Given the description of an element on the screen output the (x, y) to click on. 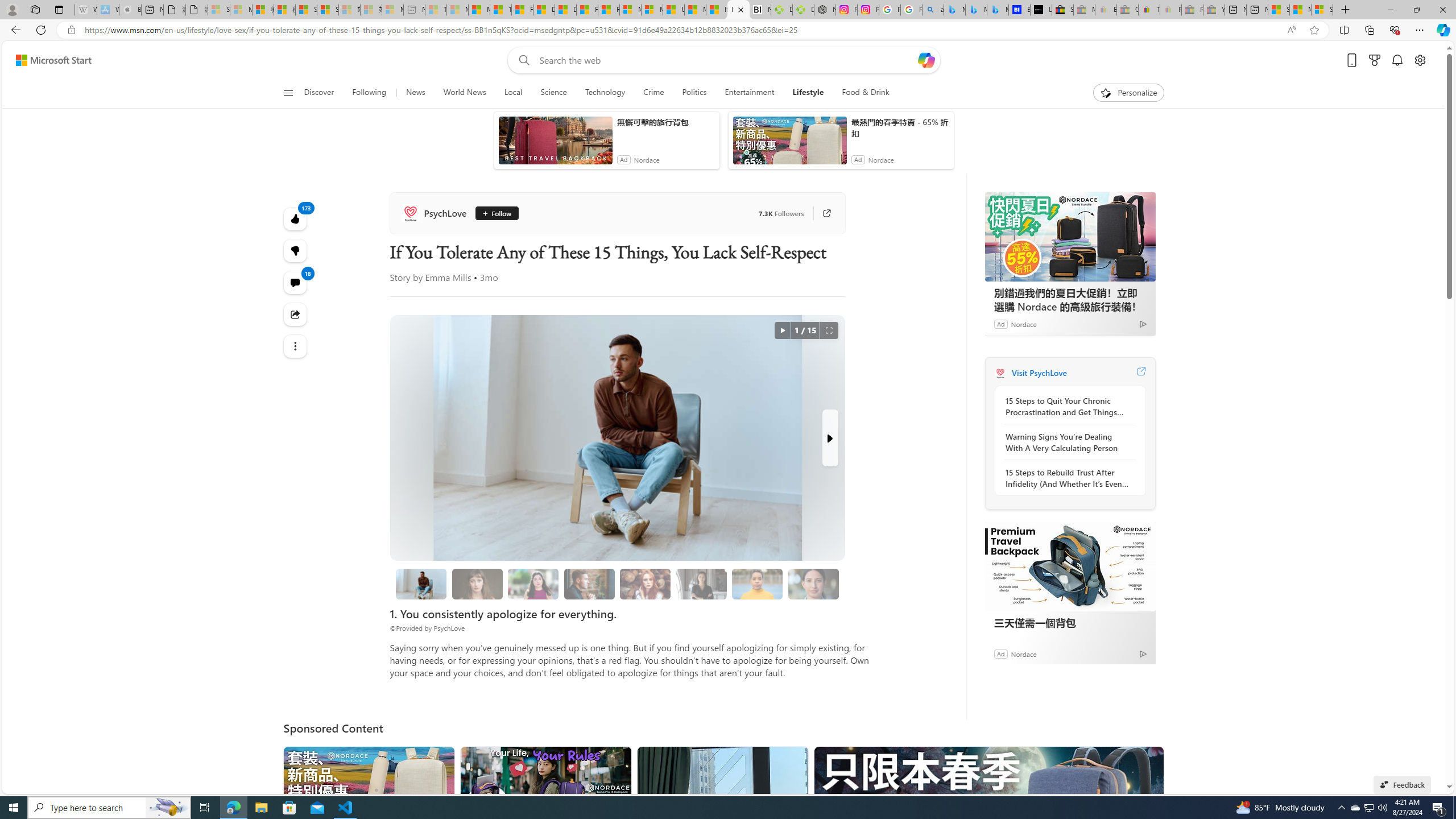
Local (512, 92)
Foo BAR | Trusted Community Engagement and Contributions (608, 9)
173 (295, 250)
Technology (604, 92)
View comments 18 Comment (295, 282)
World News (464, 92)
Nvidia va a poner a prueba la paciencia de los inversores (760, 9)
Yard, Garden & Outdoor Living - Sleeping (1214, 9)
